Given the description of an element on the screen output the (x, y) to click on. 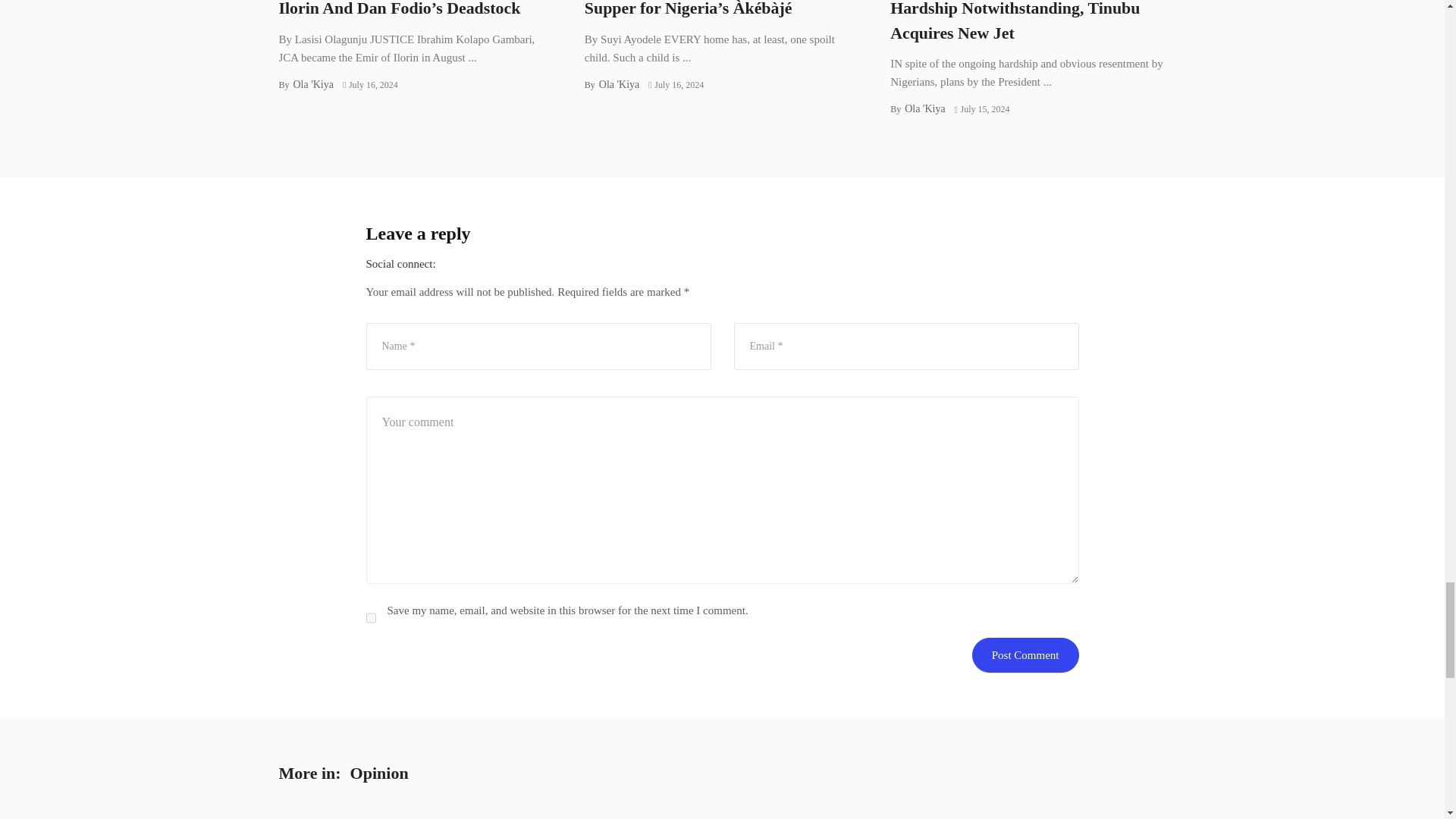
Post Comment (1025, 655)
